Given the description of an element on the screen output the (x, y) to click on. 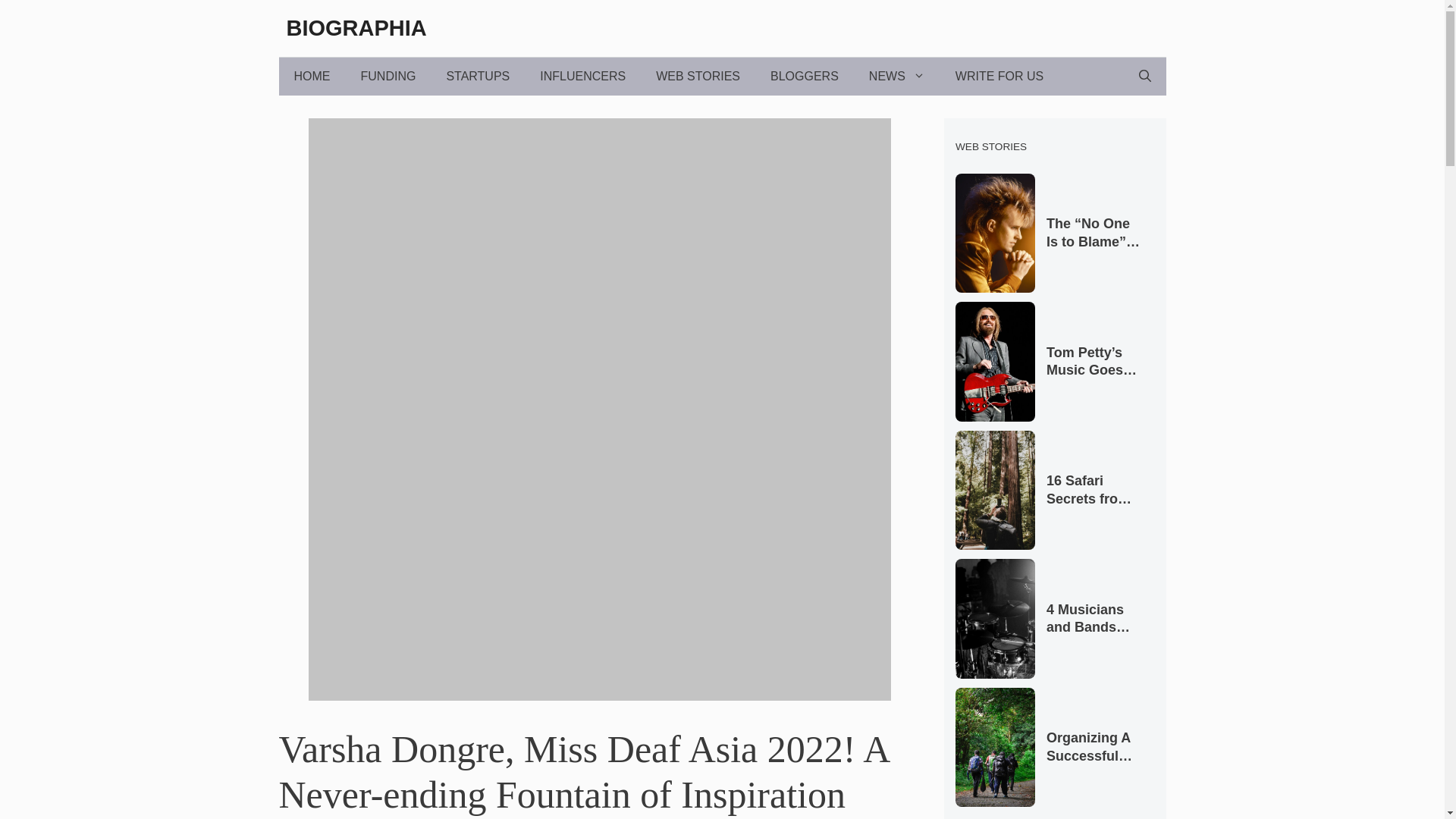
WRITE FOR US (999, 76)
NEWS (896, 76)
STARTUPS (477, 76)
INFLUENCERS (582, 76)
BIOGRAPHIA (356, 27)
WEB STORIES (697, 76)
BLOGGERS (804, 76)
FUNDING (388, 76)
HOME (312, 76)
